Given the description of an element on the screen output the (x, y) to click on. 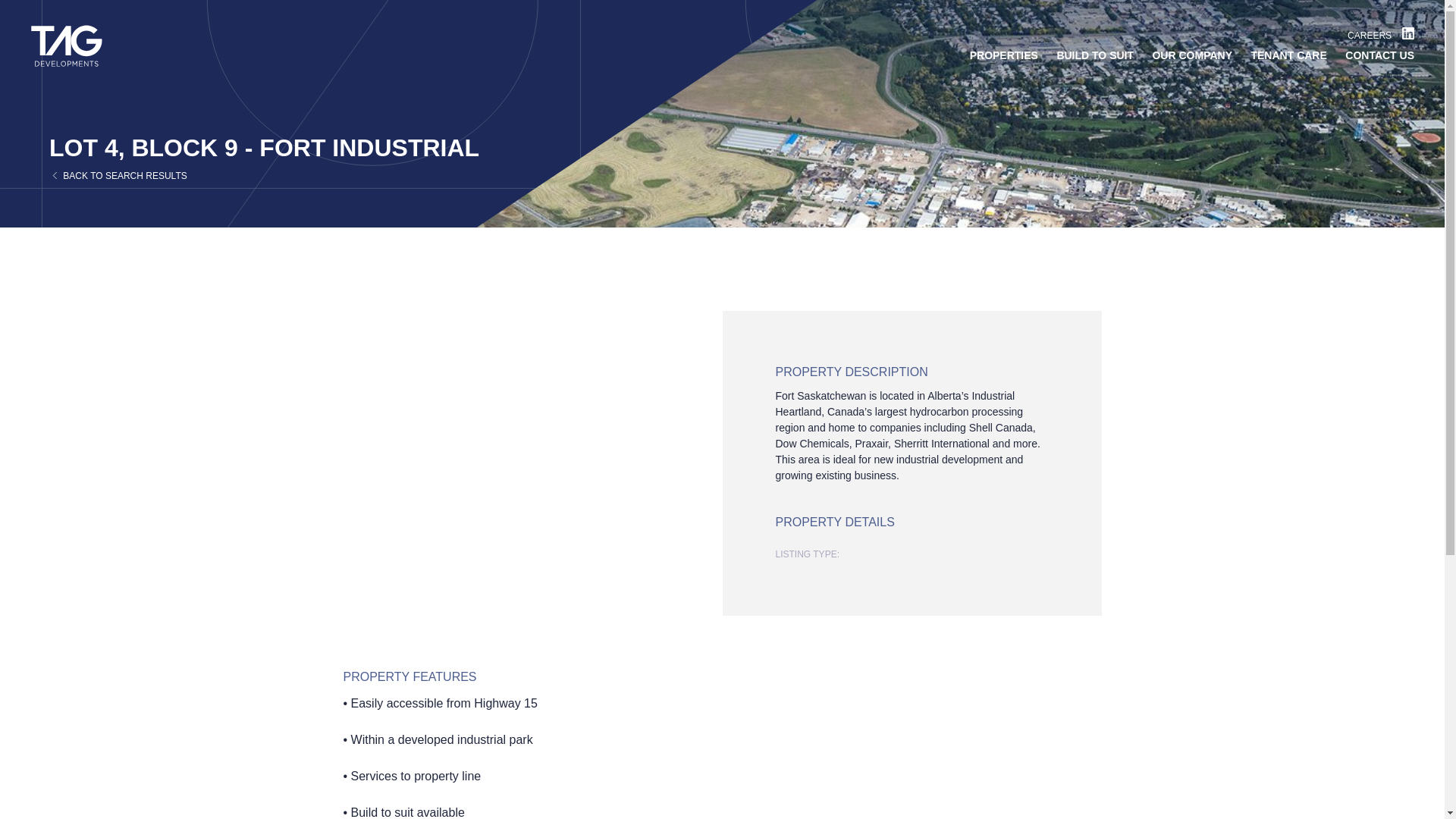
CAREERS (1369, 35)
BACK TO SEARCH RESULTS (118, 175)
CONTACT US (1379, 55)
OUR COMPANY (1191, 55)
BUILD TO SUIT (1095, 55)
TENANT CARE (1288, 55)
PROPERTIES (1003, 55)
